Given the description of an element on the screen output the (x, y) to click on. 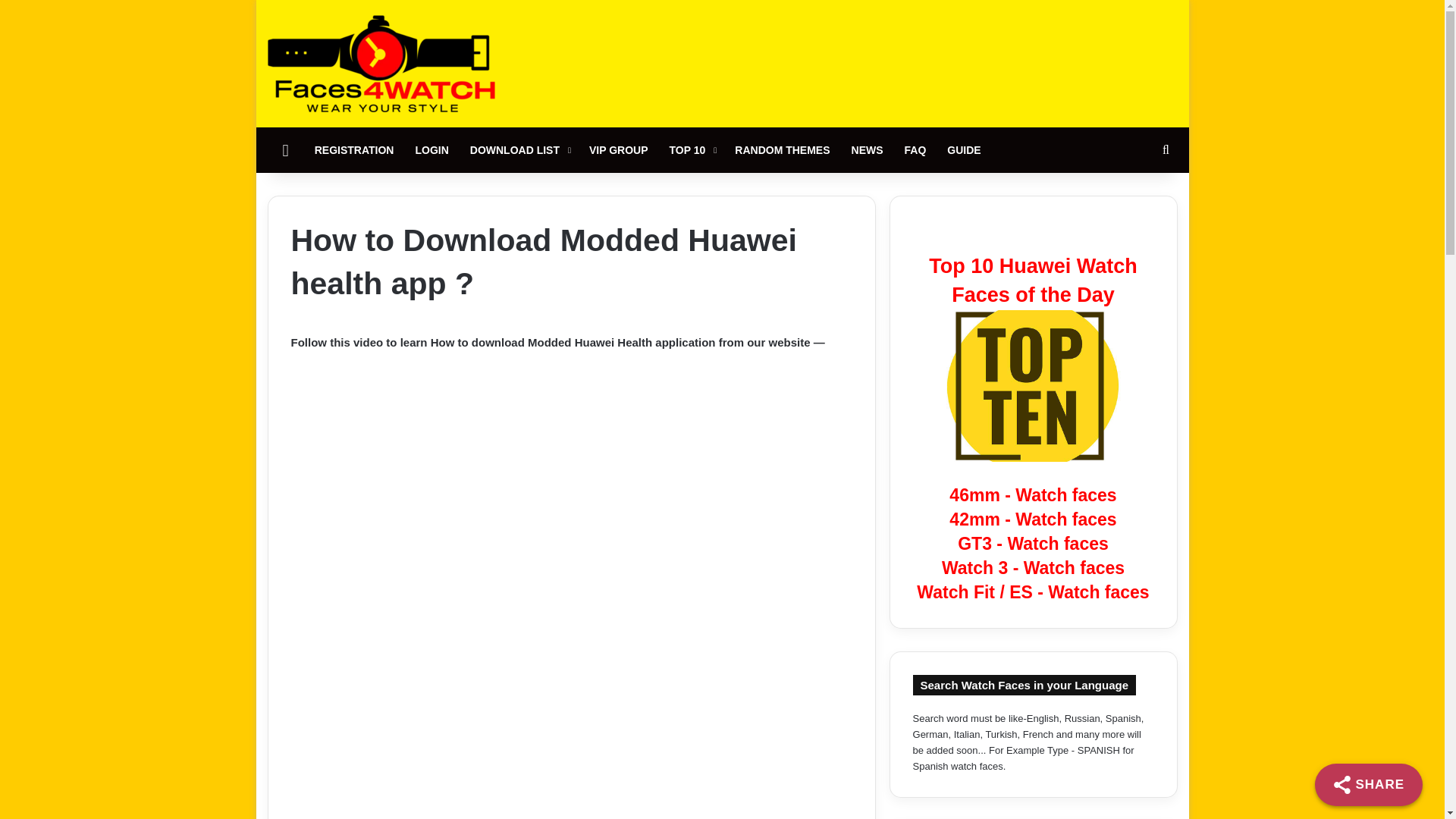
TOP 10 (692, 149)
VIP GROUP (618, 149)
46mm - Watch faces (1032, 495)
REGISTRATION (354, 149)
Watch 3 - Watch faces (1033, 567)
Faces4Watch (380, 63)
Watch 3 Watch faces (1033, 567)
GUIDE (963, 149)
42mm Watch faces (1032, 519)
46mm Watch Faces (1032, 495)
NEWS (867, 149)
LOGIN (431, 149)
GT3 - Watch faces (1033, 543)
FAQ (915, 149)
DOWNLOAD LIST (519, 149)
